Given the description of an element on the screen output the (x, y) to click on. 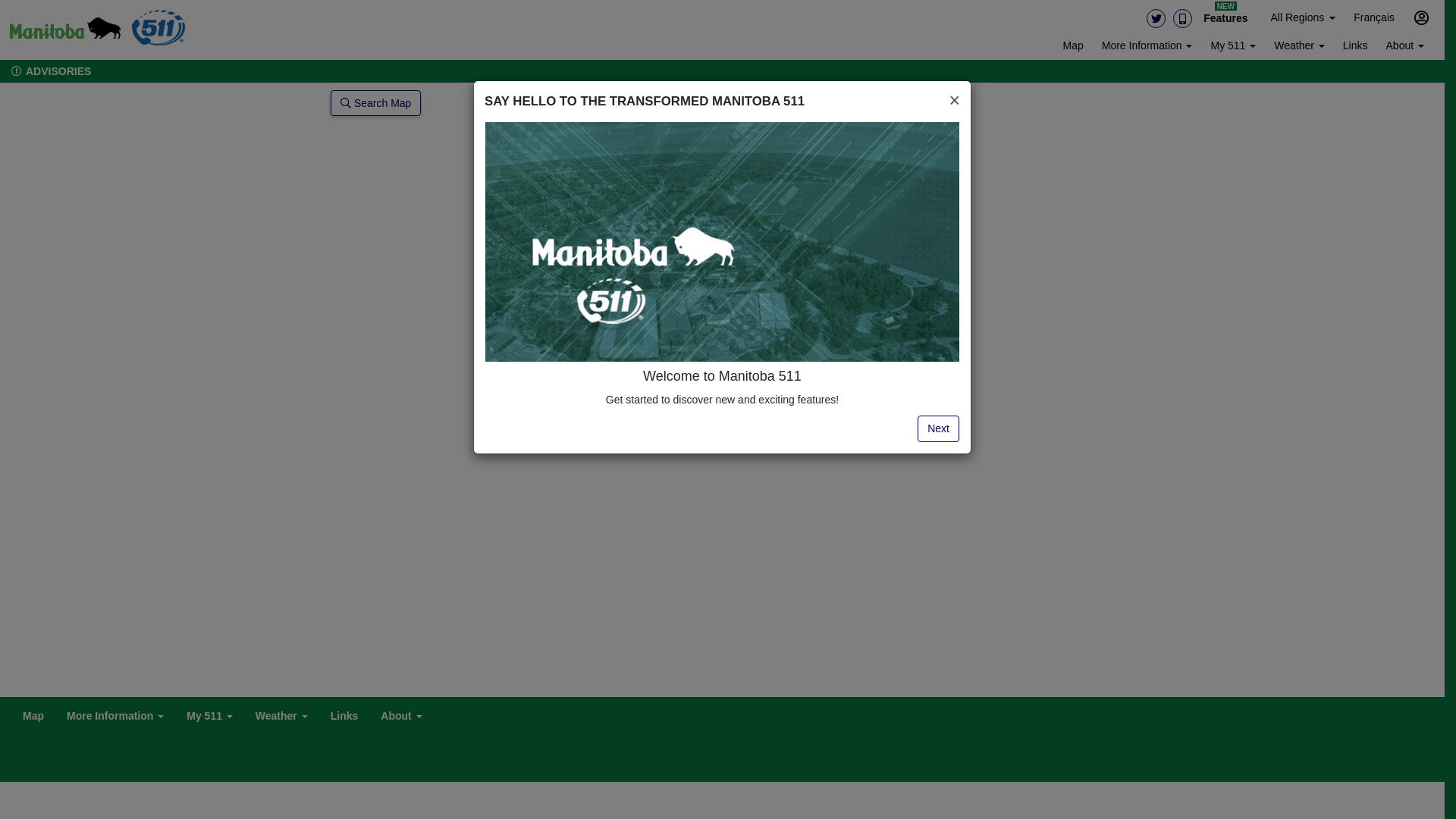
More Information Element type: text (1147, 46)
ADVISORIES Element type: text (45, 70)
Map Element type: text (33, 711)
My 511 Element type: text (1232, 46)
All Regions Element type: text (1302, 18)
  Element type: text (65, 29)
More Information Element type: text (115, 713)
Free Apps Element type: hover (1182, 18)
Next Element type: text (938, 428)
Twitter Element type: hover (1155, 18)
User Element type: text (1421, 17)
Links Element type: text (1355, 46)
Weather Element type: text (281, 713)
  Element type: text (158, 27)
About Element type: text (1404, 46)
Search Map Element type: text (375, 103)
Links Element type: text (344, 711)
About Element type: text (401, 713)
Weather Element type: text (1299, 46)
Map Element type: text (1073, 46)
My 511 Element type: text (209, 713)
